Given the description of an element on the screen output the (x, y) to click on. 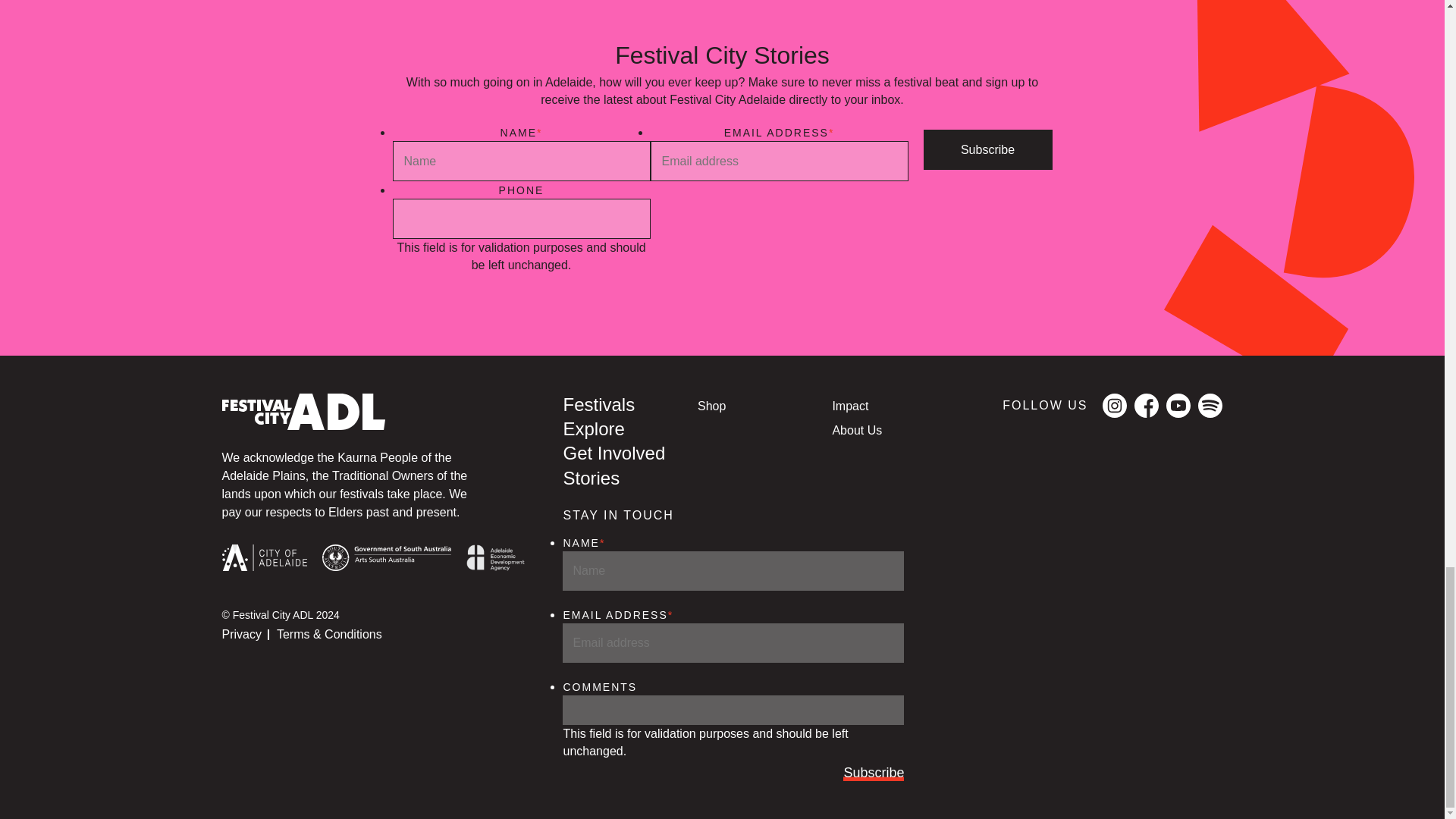
Privacy (240, 634)
Subscribe (873, 773)
Subscribe (987, 149)
Subscribe (987, 149)
